Given the description of an element on the screen output the (x, y) to click on. 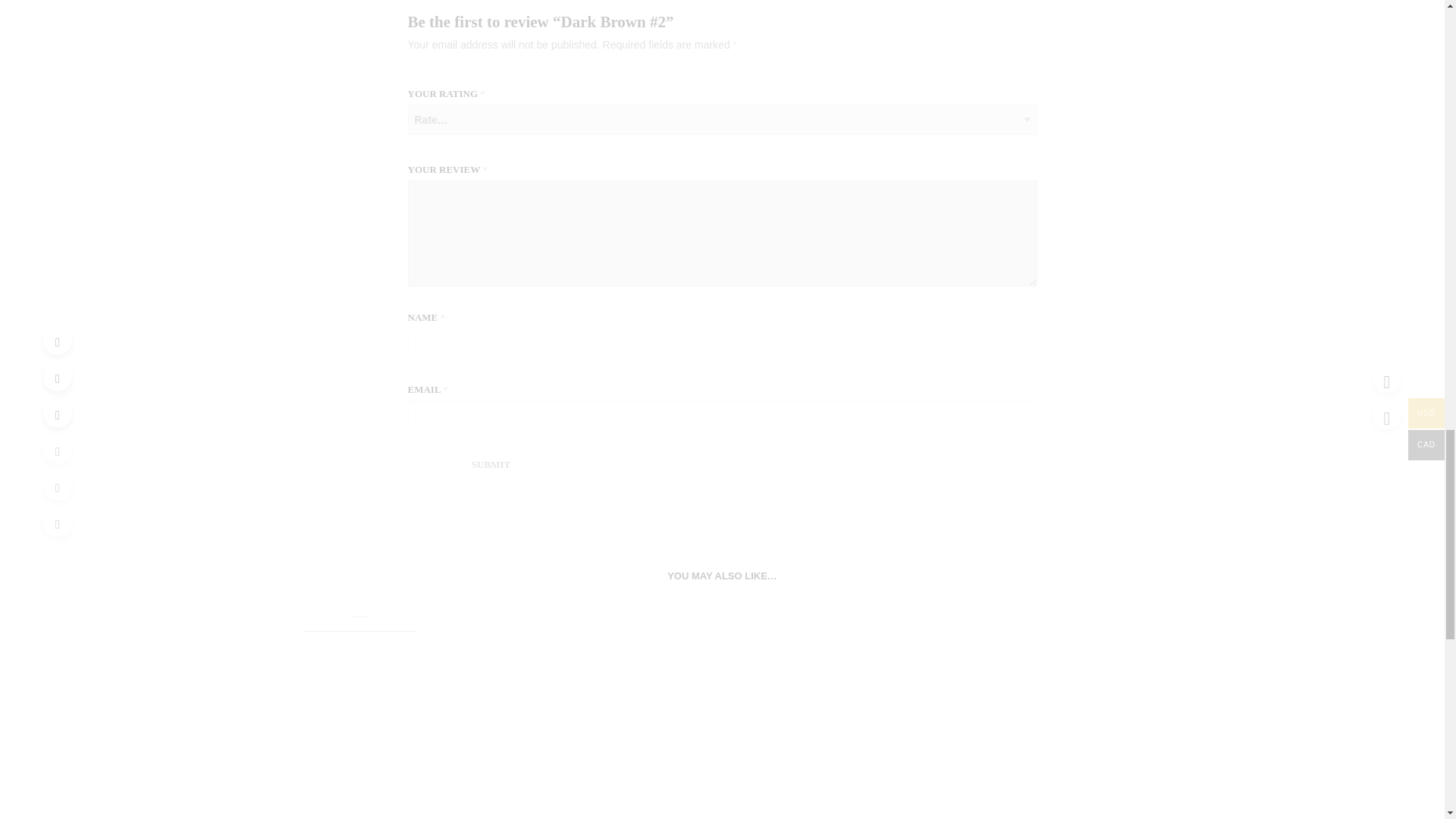
Submit (491, 464)
